Given the description of an element on the screen output the (x, y) to click on. 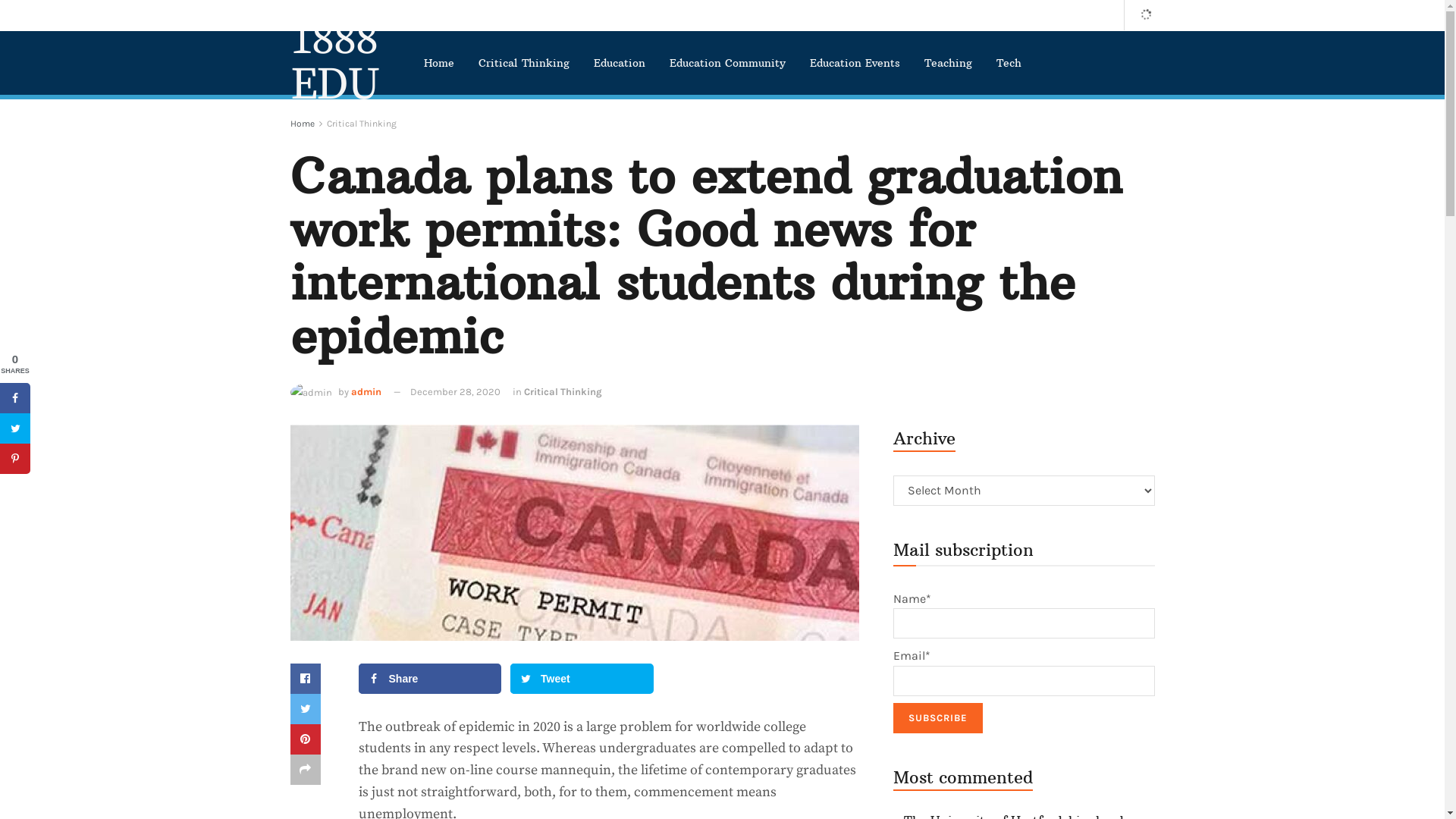
Home Element type: text (438, 62)
Home Element type: text (301, 123)
Critical Thinking Element type: text (522, 62)
Tech Element type: text (1008, 62)
Critical Thinking Element type: text (360, 123)
Subscribe Element type: text (937, 717)
Critical Thinking Element type: text (562, 391)
Teaching Element type: text (947, 62)
Education Community Element type: text (726, 62)
1888 EDU Element type: text (339, 62)
Education Element type: text (618, 62)
December 28, 2020 Element type: text (454, 391)
Tweet Element type: text (581, 678)
Education Events Element type: text (854, 62)
Share Element type: text (429, 678)
admin Element type: text (365, 391)
